Given the description of an element on the screen output the (x, y) to click on. 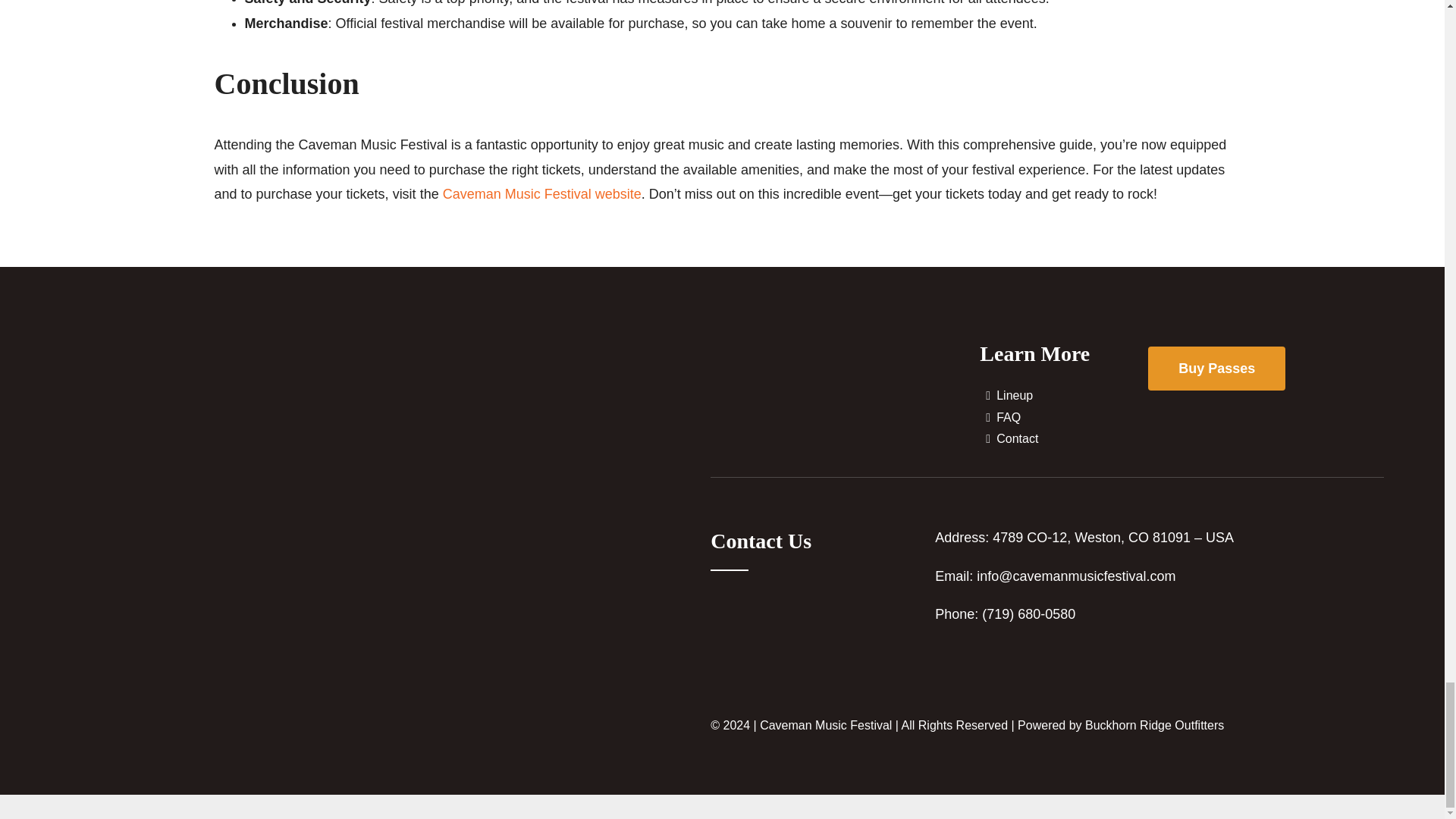
Contact (1063, 439)
Buy Passes (1216, 368)
Lineup (1063, 395)
Caveman Music Festival website (542, 193)
FAQ (1063, 418)
